Given the description of an element on the screen output the (x, y) to click on. 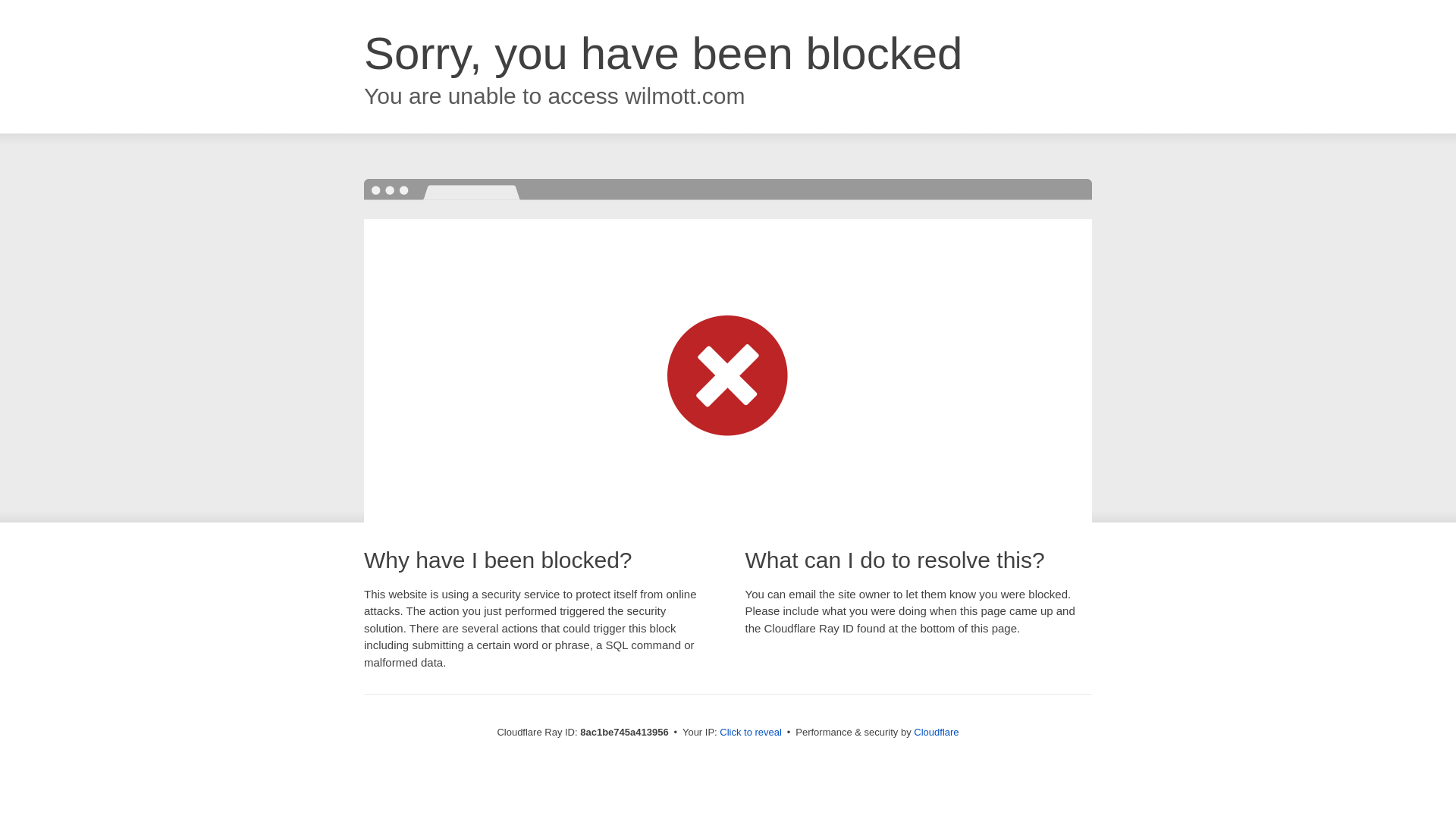
Cloudflare (936, 731)
Click to reveal (750, 732)
